Given the description of an element on the screen output the (x, y) to click on. 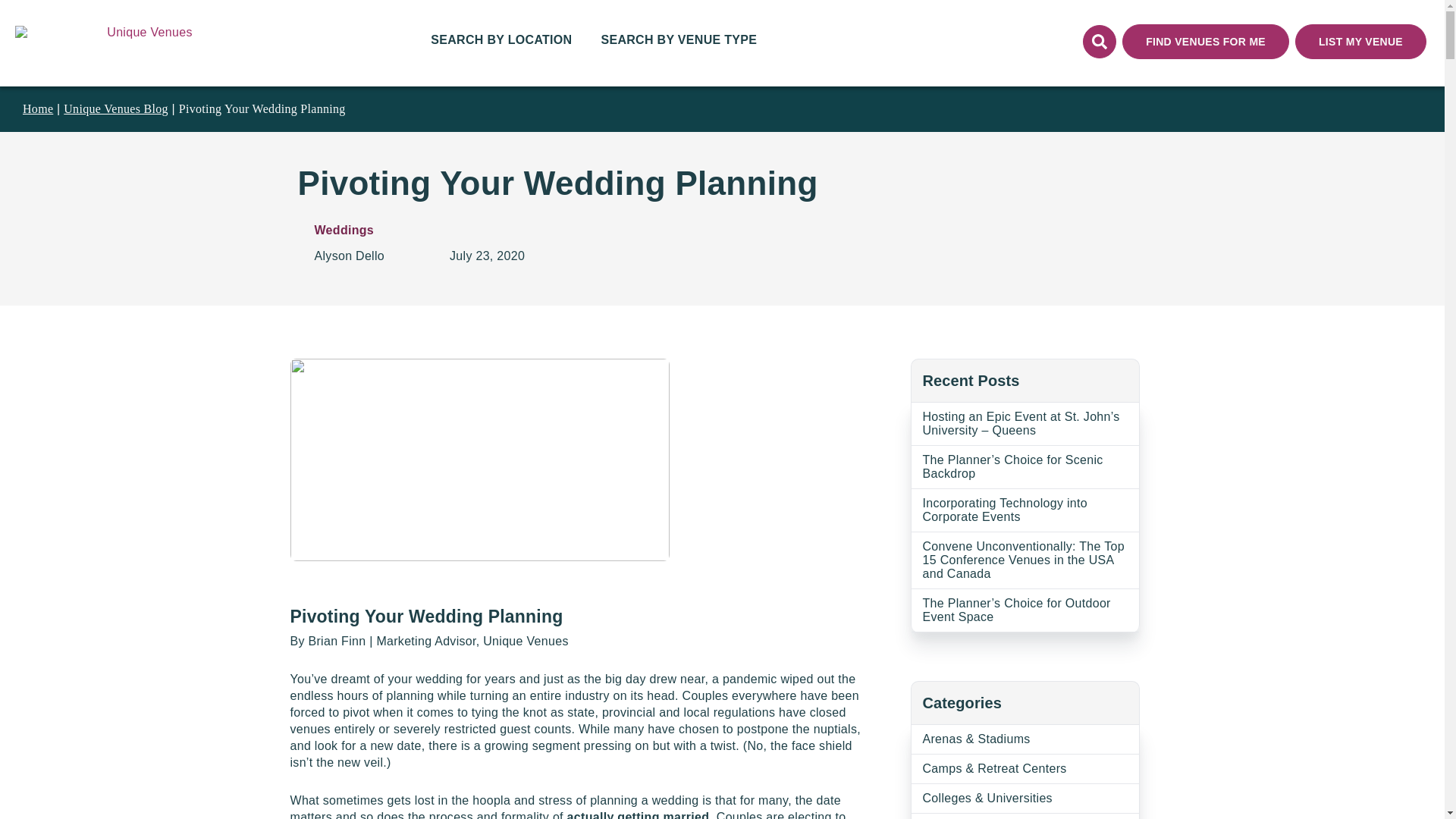
Unique Venues (148, 41)
List My Venues (1360, 41)
SEARCH BY LOCATION (501, 43)
SEARCH BY VENUE TYPE (678, 43)
Find Venues For Me (1205, 41)
